Given the description of an element on the screen output the (x, y) to click on. 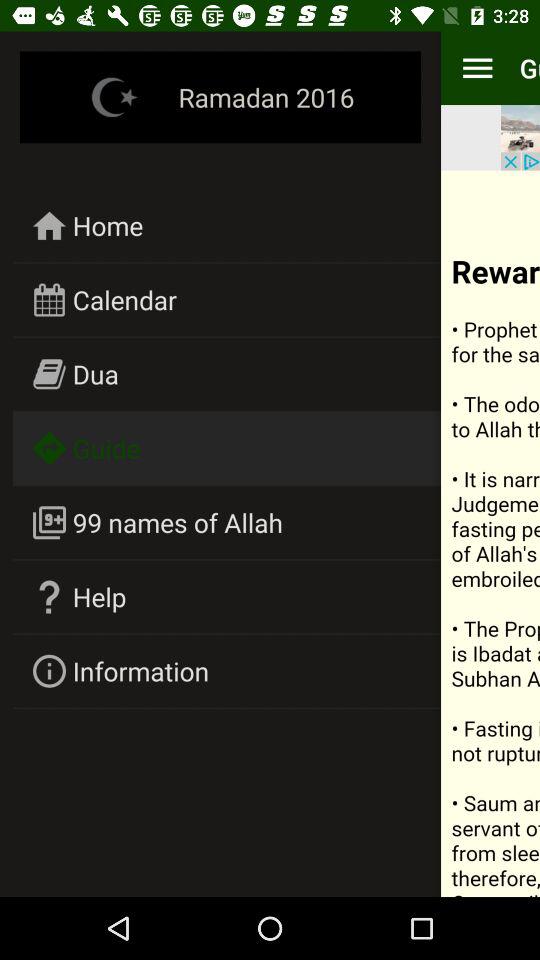
flip to the information (141, 670)
